Given the description of an element on the screen output the (x, y) to click on. 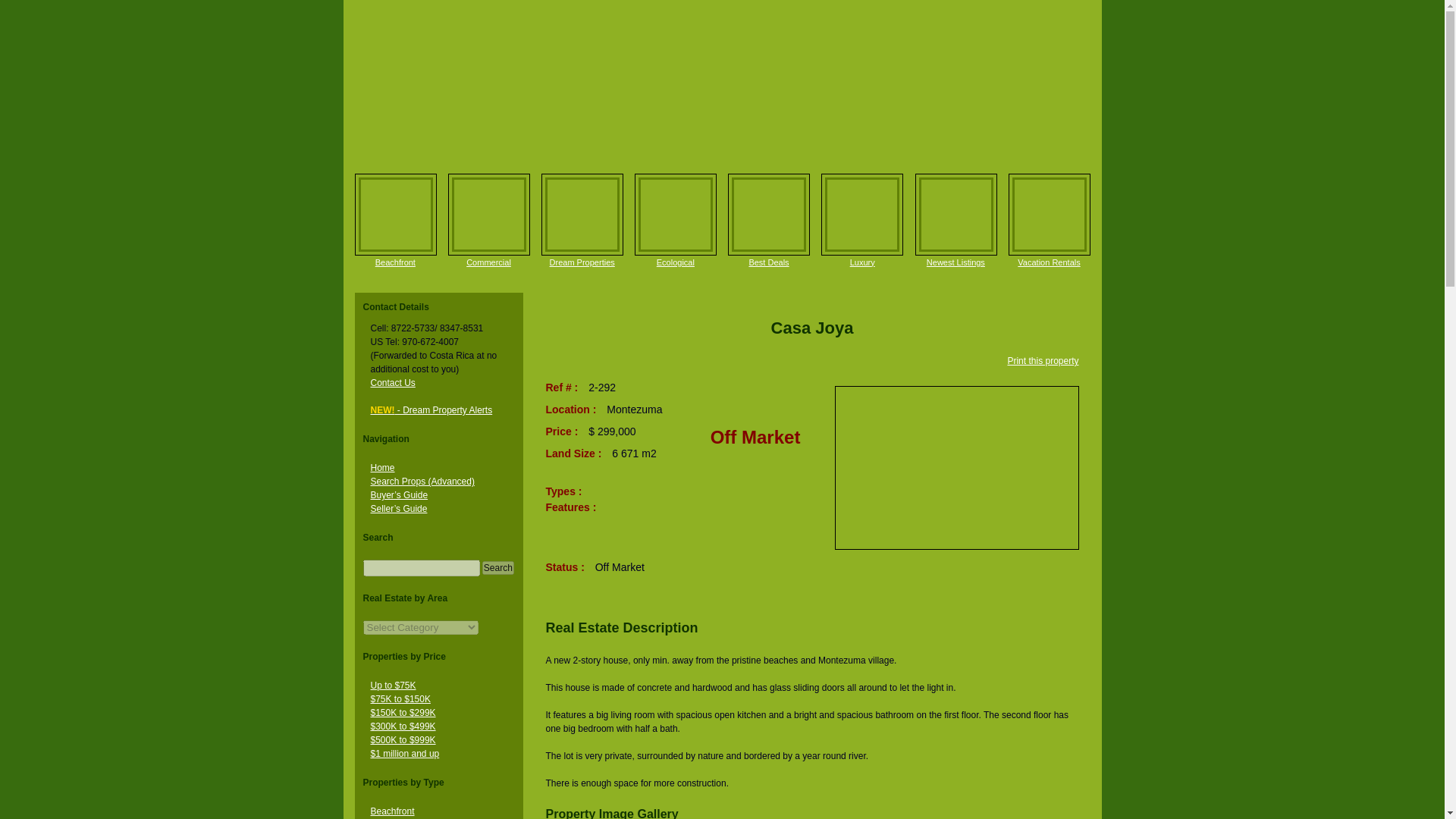
NEW! - Dream Property Alerts (430, 409)
Concierge Service (582, 214)
Home (381, 467)
Contact Us (391, 382)
Luxury (862, 261)
Vacation Rentals (1048, 261)
Commercial (488, 261)
Search (497, 567)
Commercial (488, 214)
Ecological (675, 214)
Beachfront (394, 261)
Best Deals (768, 214)
Beachfront (391, 810)
Best Deals (768, 261)
Beachfront (395, 214)
